Given the description of an element on the screen output the (x, y) to click on. 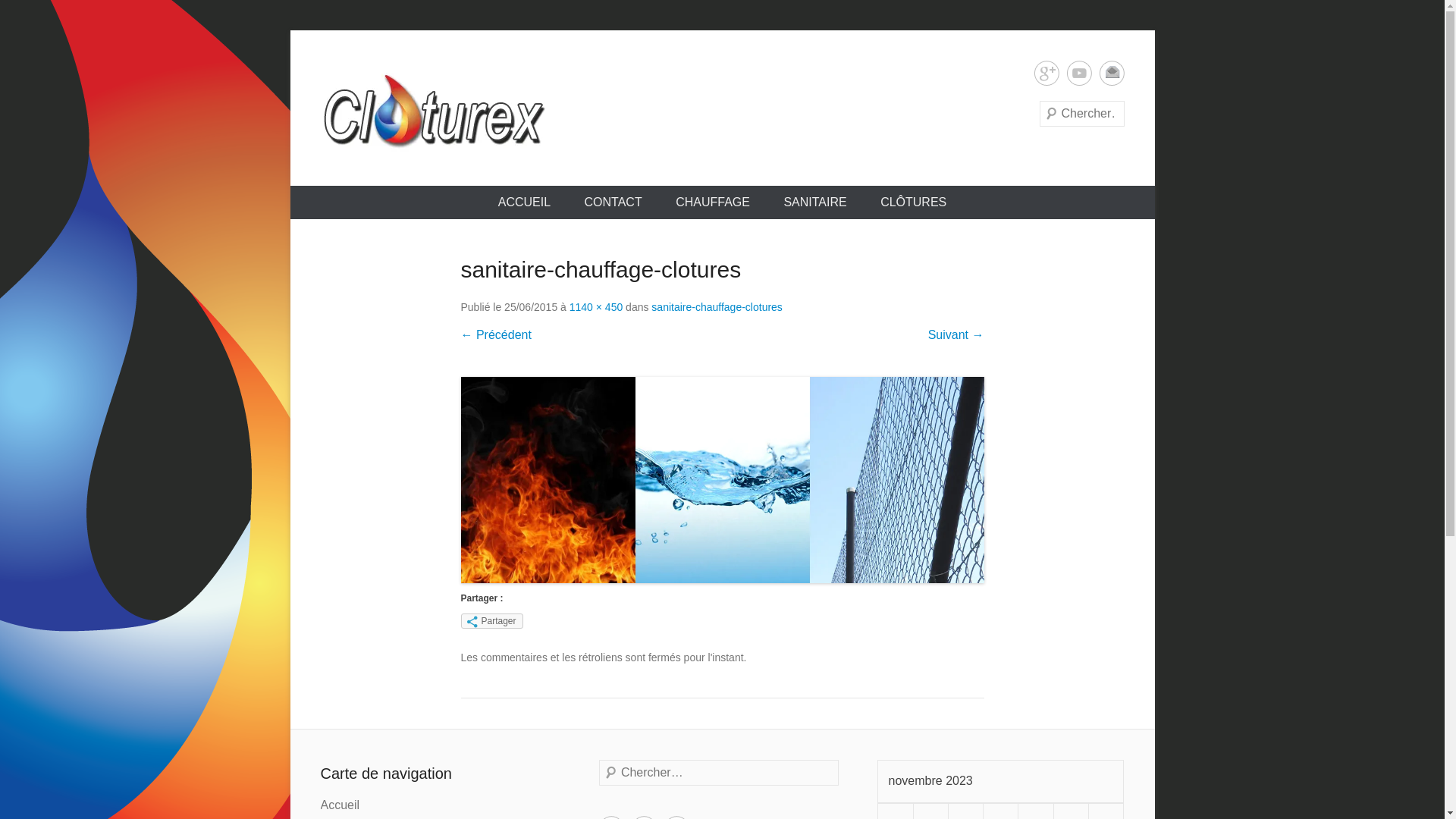
Google+ Element type: text (1046, 72)
Aller au contenu Element type: text (289, 29)
Email Element type: text (1111, 72)
CHAUFFAGE Element type: text (712, 202)
Recherche Element type: text (41, 15)
sanitaire-chauffage-clotures Element type: hover (722, 479)
CONTACT Element type: text (613, 202)
Partager Element type: text (492, 620)
YouTube Element type: text (1078, 72)
sanitaire-chauffage-clotures Element type: text (716, 307)
SANITAIRE Element type: text (814, 202)
Accueil Element type: text (339, 804)
ACCUEIL Element type: text (524, 202)
